Given the description of an element on the screen output the (x, y) to click on. 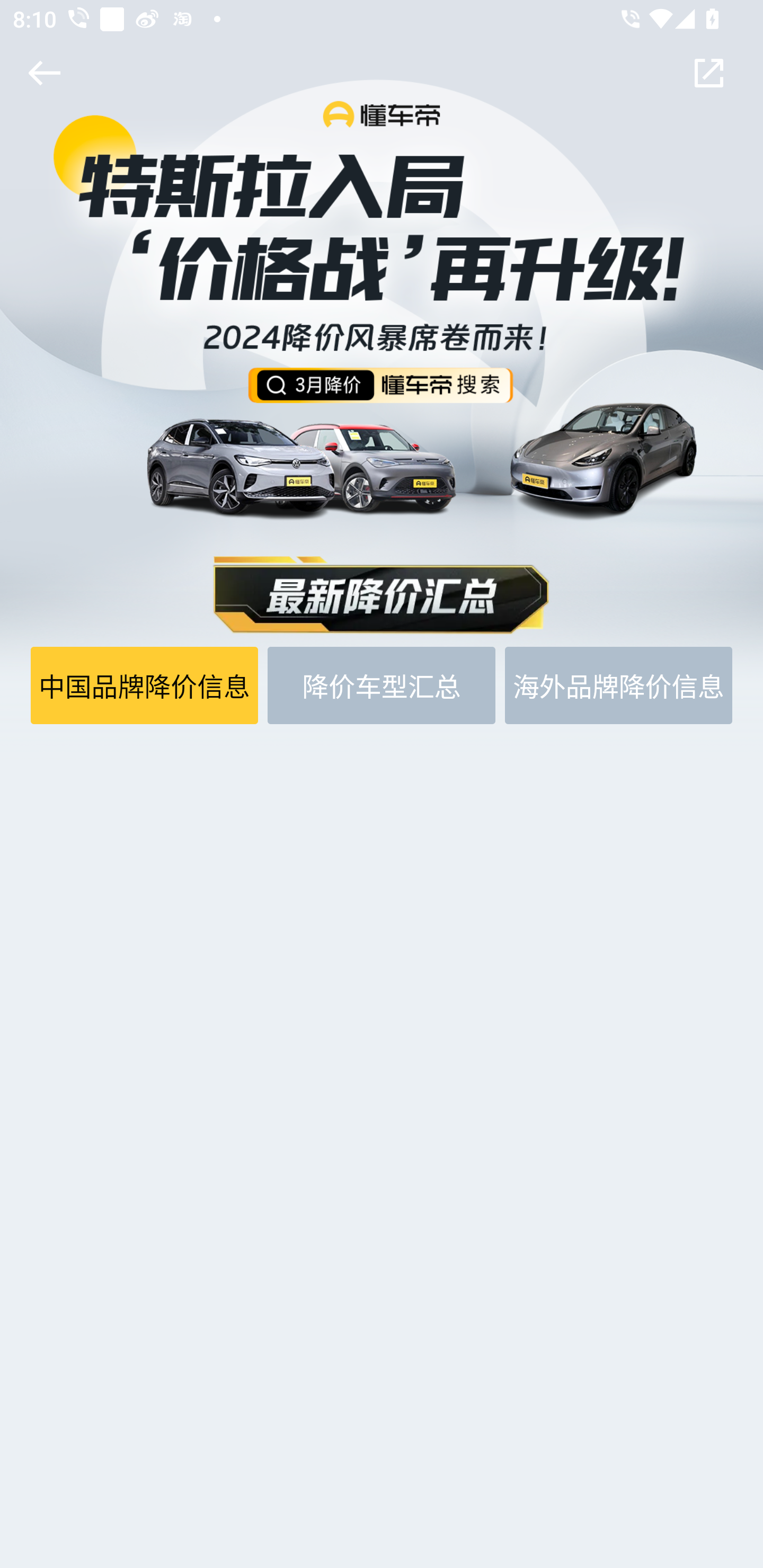
 (41, 72)
